Given the description of an element on the screen output the (x, y) to click on. 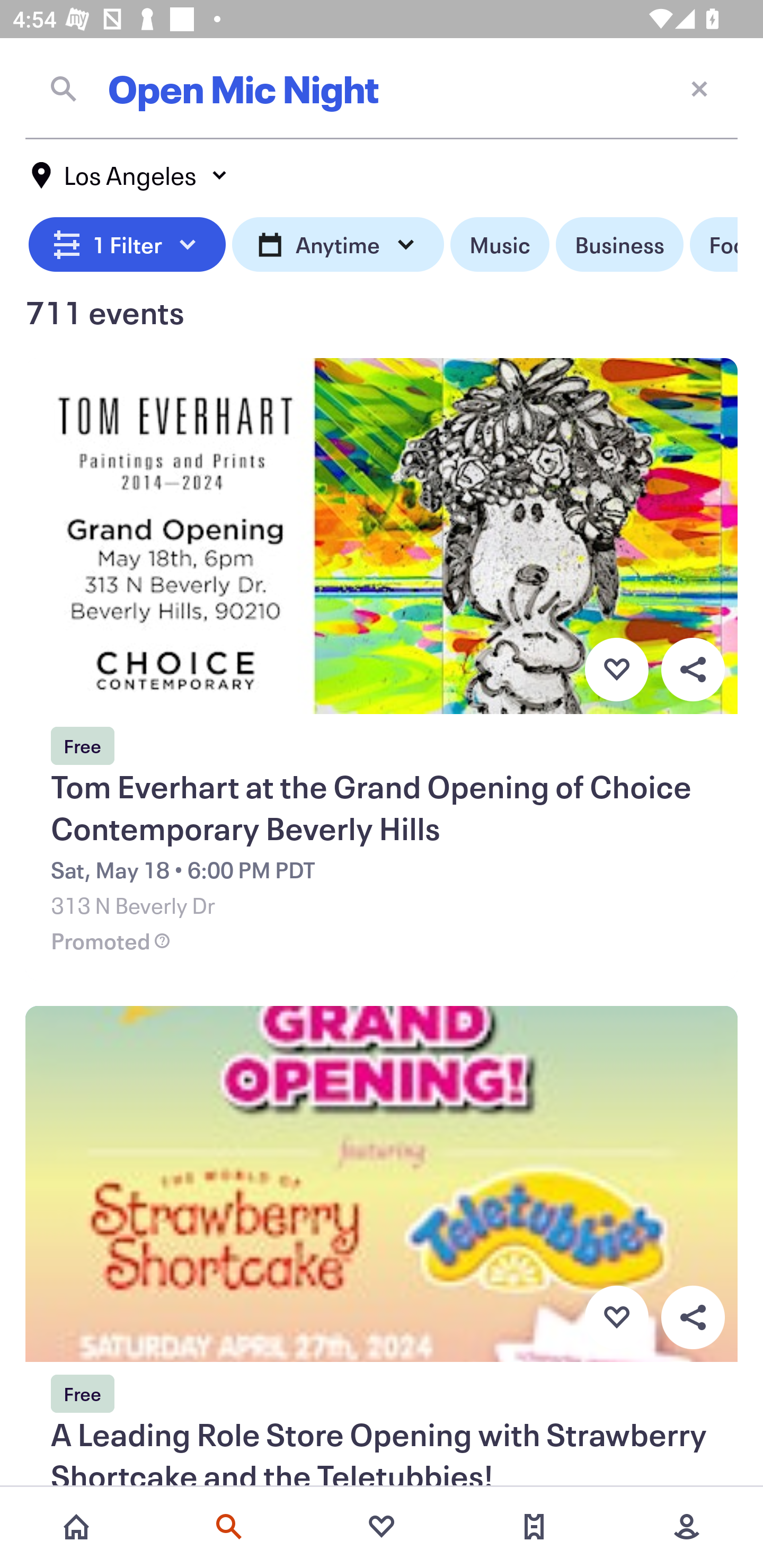
Open Mic Night Close current screen (381, 88)
Close current screen (699, 88)
Los Angeles (130, 175)
1 Filter (126, 244)
Anytime (337, 244)
Music (499, 244)
Business (619, 244)
Favorite button (616, 669)
Overflow menu button (692, 669)
Favorite button (616, 1317)
Overflow menu button (692, 1317)
Home (76, 1526)
Search events (228, 1526)
Favorites (381, 1526)
Tickets (533, 1526)
More (686, 1526)
